Given the description of an element on the screen output the (x, y) to click on. 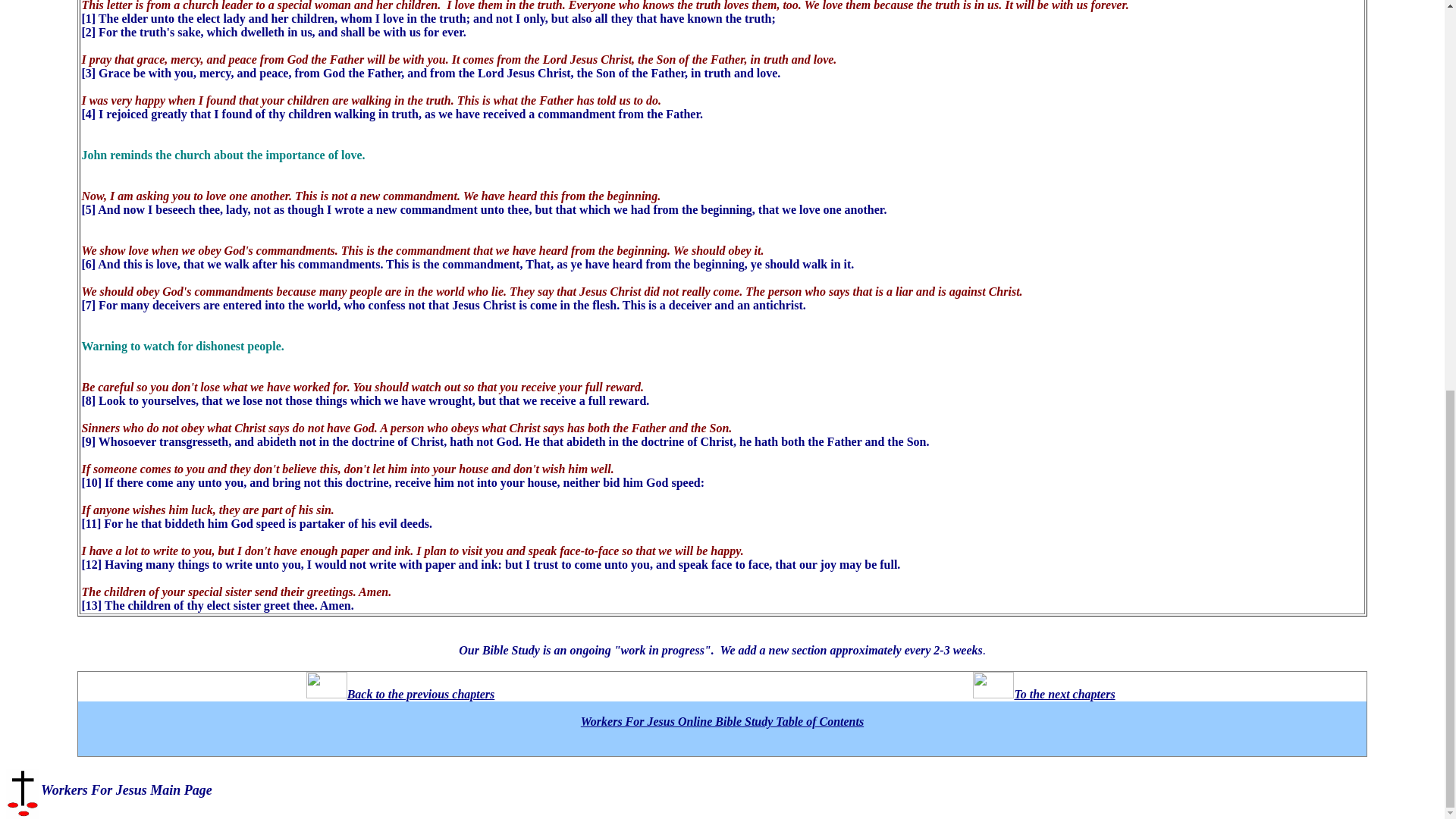
To the next chapters (1043, 694)
Workers For Jesus Online Bible Study Table of Contents (721, 721)
Back to the previous chapters (400, 694)
Workers For Jesus Main Page (126, 789)
